Given the description of an element on the screen output the (x, y) to click on. 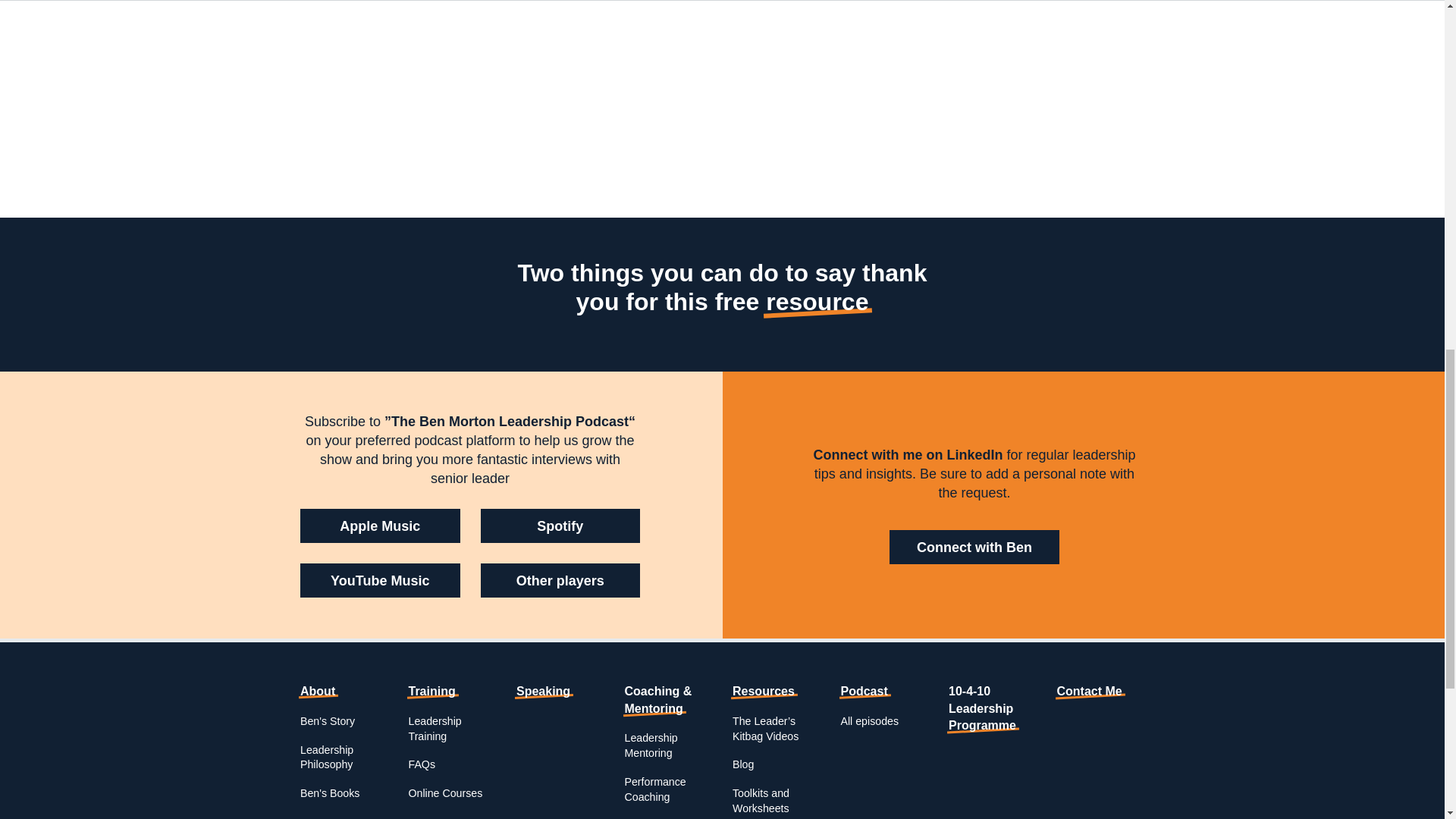
Leadership Philosophy (326, 757)
Spotify (560, 525)
Leadership Training (434, 728)
FAQs (420, 764)
Connect with Ben (974, 546)
About (316, 690)
Ben's Books (329, 793)
YouTube Music (379, 580)
Ben's Story (327, 720)
Training (430, 690)
Apple Music (379, 525)
Other players (560, 580)
